Given the description of an element on the screen output the (x, y) to click on. 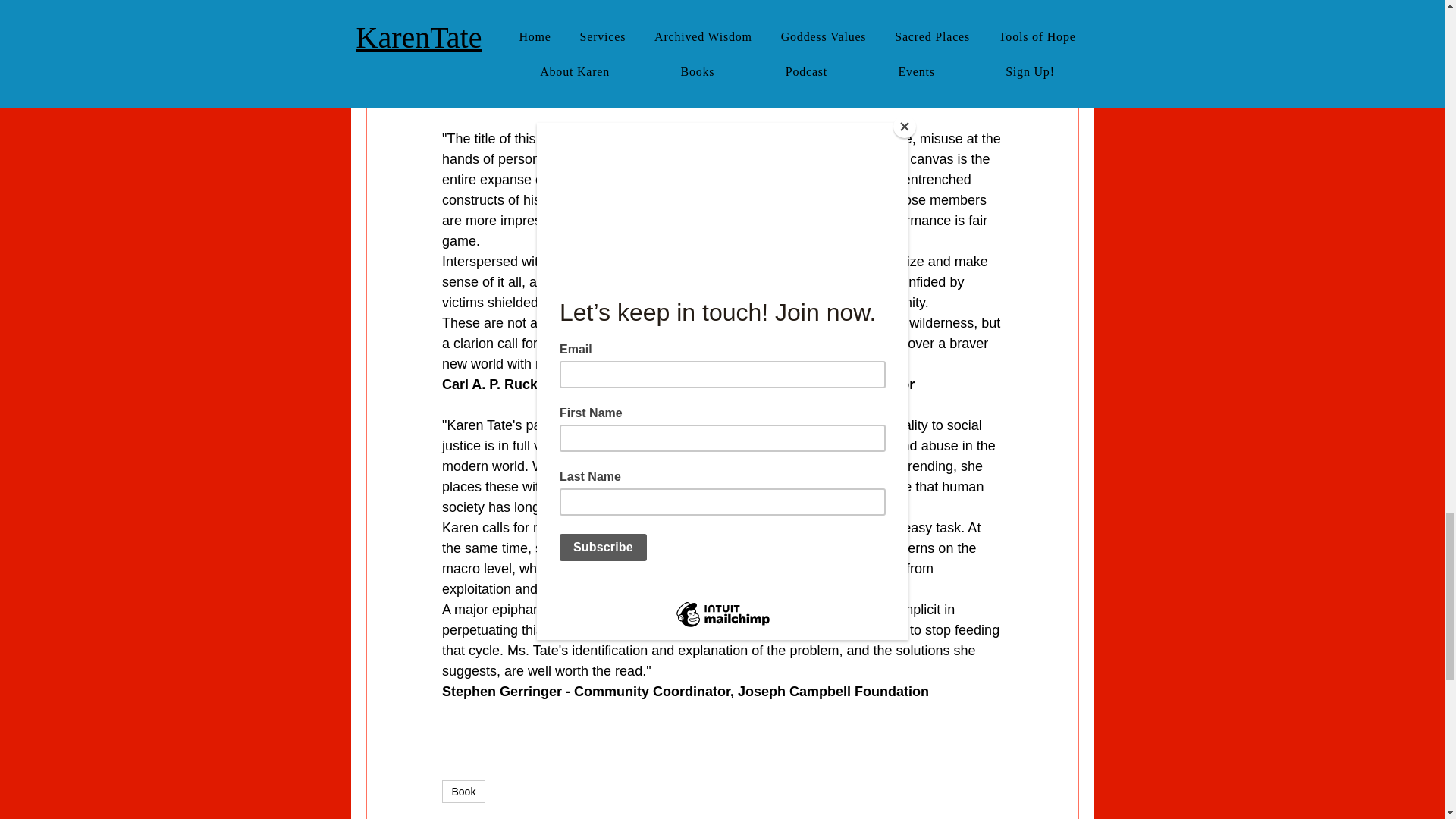
Book (462, 791)
